Given the description of an element on the screen output the (x, y) to click on. 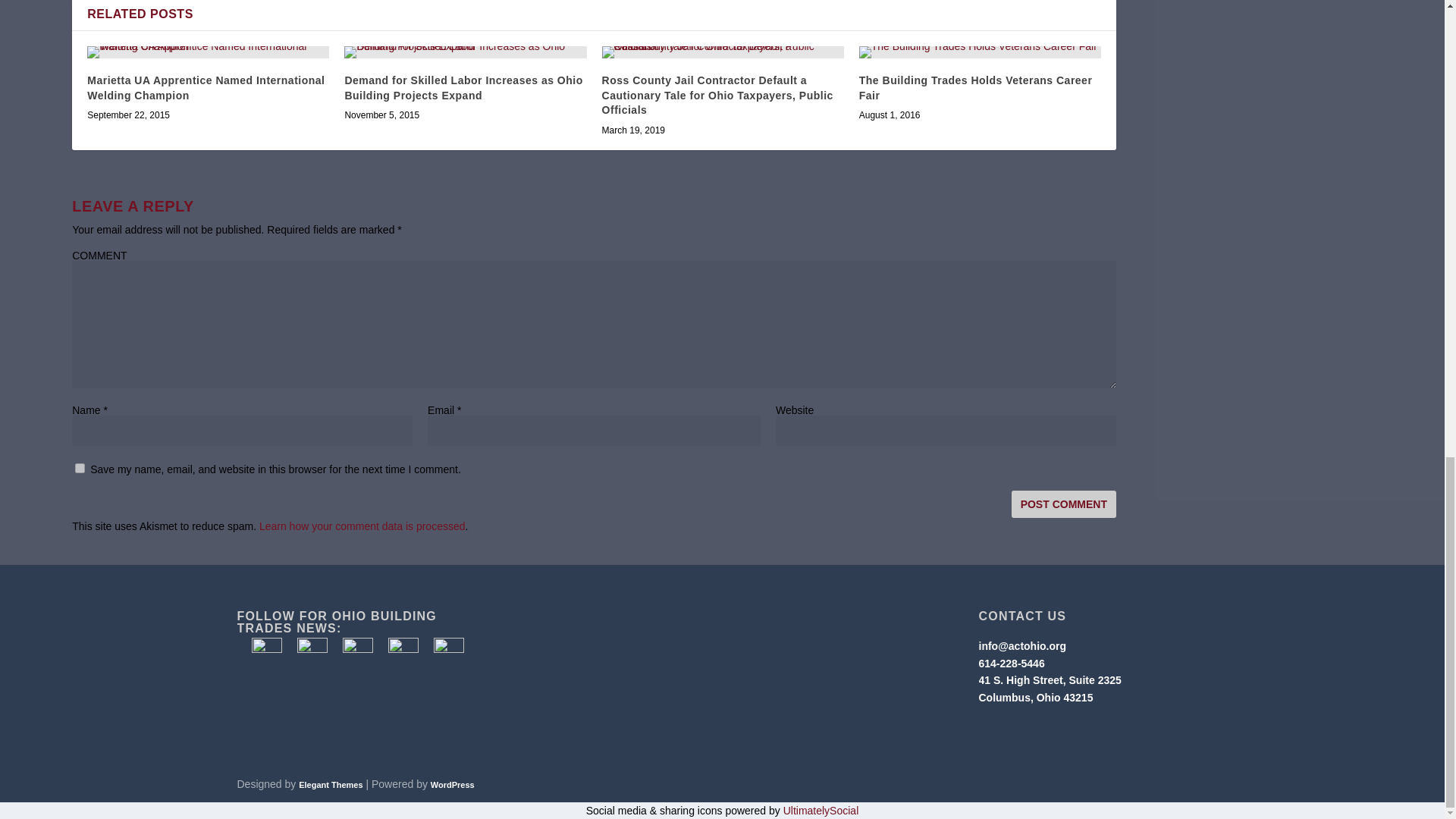
Post Comment (1063, 503)
Marietta UA Apprentice Named International Welding Champion (208, 51)
yes (79, 468)
